Given the description of an element on the screen output the (x, y) to click on. 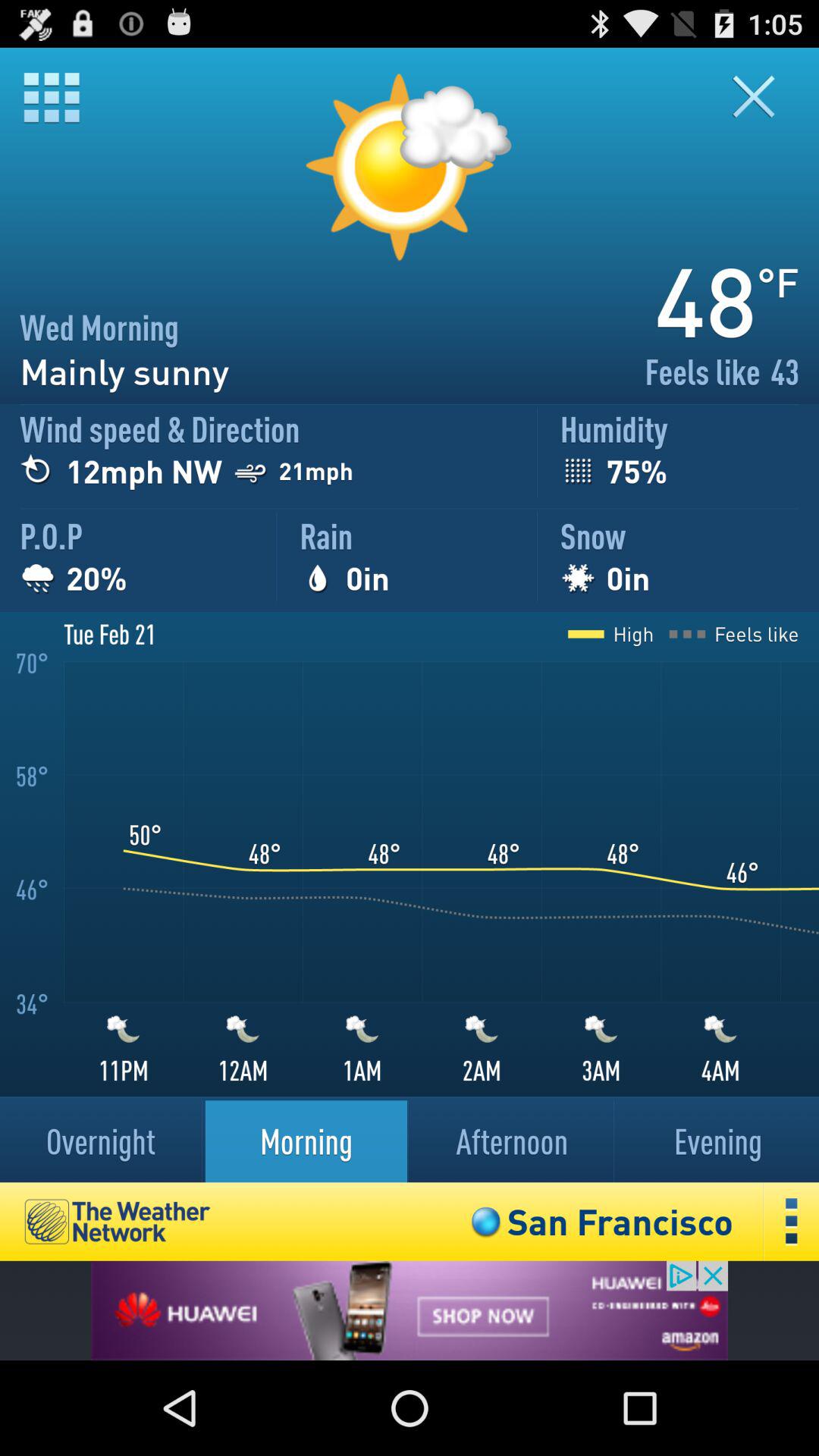
advertisement (409, 1310)
